Given the description of an element on the screen output the (x, y) to click on. 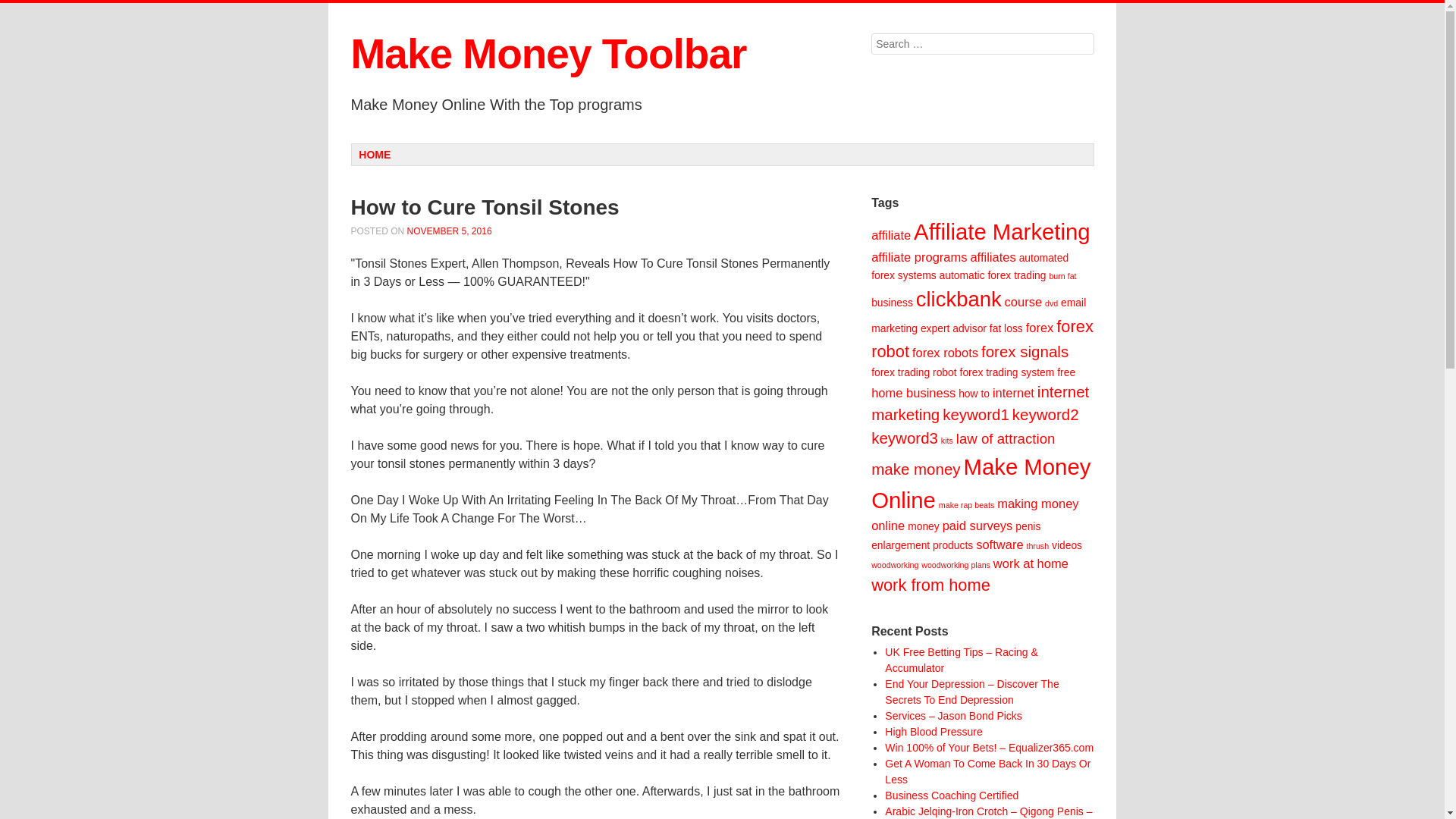
law of attraction (1005, 438)
forex trading robot (913, 372)
free (1066, 372)
HOME (375, 154)
how to (974, 393)
internet (1012, 392)
forex robot (981, 338)
clickbank (958, 299)
automated forex systems (969, 266)
affiliate programs (918, 257)
forex (1040, 327)
business (891, 302)
Search (22, 9)
course (1023, 301)
affiliates (991, 257)
